Given the description of an element on the screen output the (x, y) to click on. 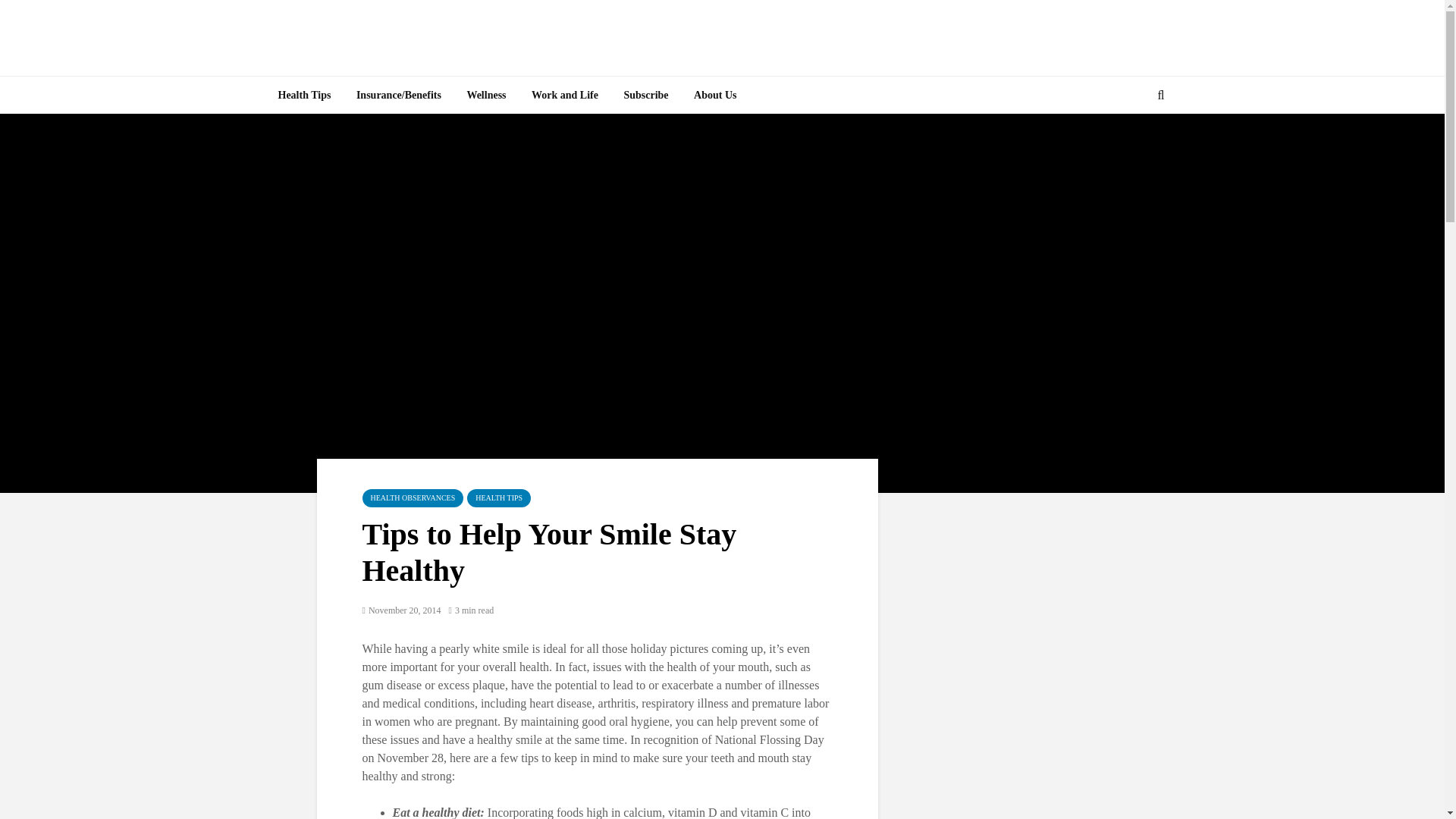
About Us (715, 95)
Work and Life (564, 95)
Subscribe (645, 95)
Wellness (485, 95)
Health Tips (304, 95)
